Given the description of an element on the screen output the (x, y) to click on. 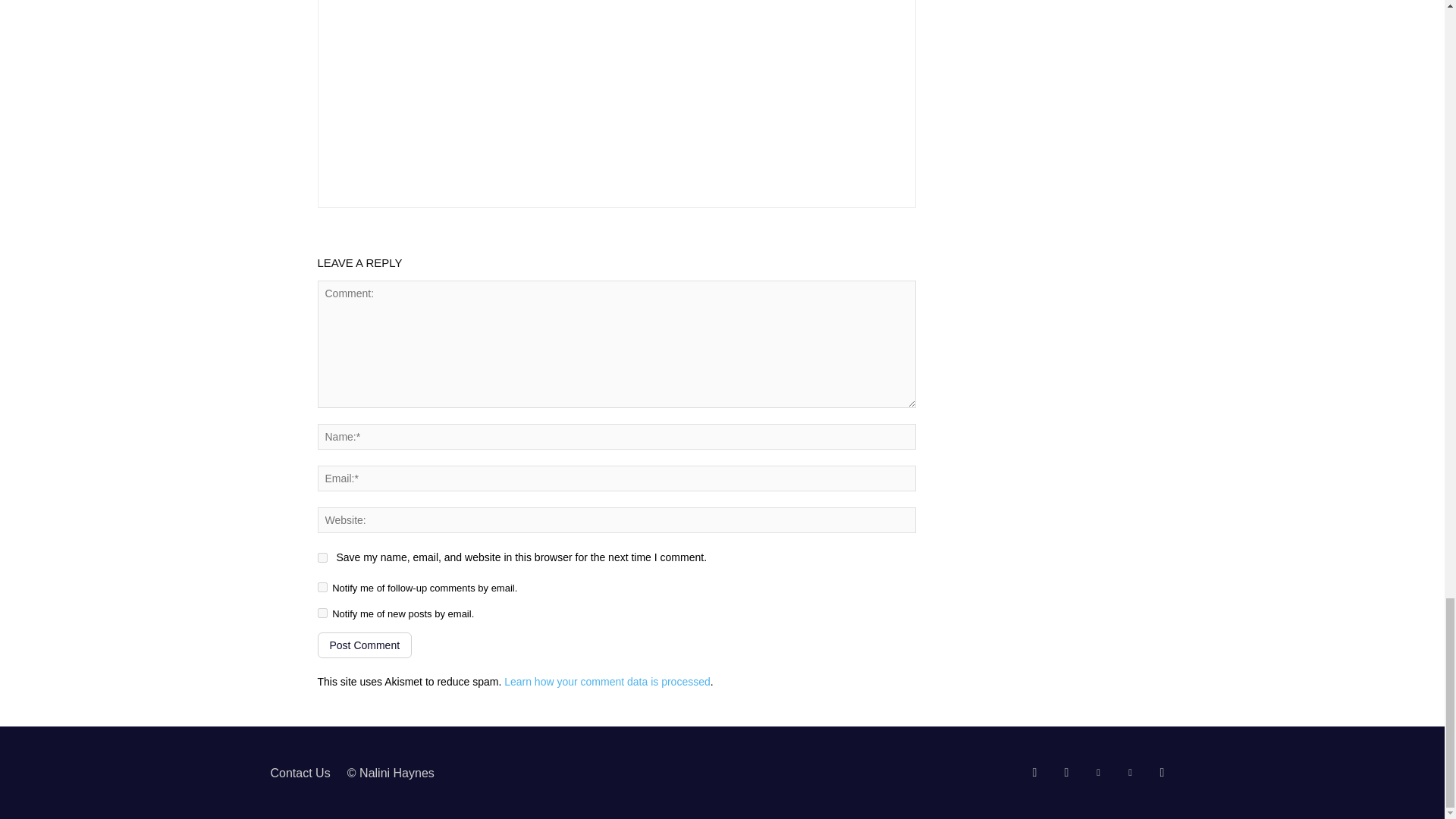
subscribe (321, 613)
subscribe (321, 587)
Post Comment (364, 645)
yes (321, 557)
